Given the description of an element on the screen output the (x, y) to click on. 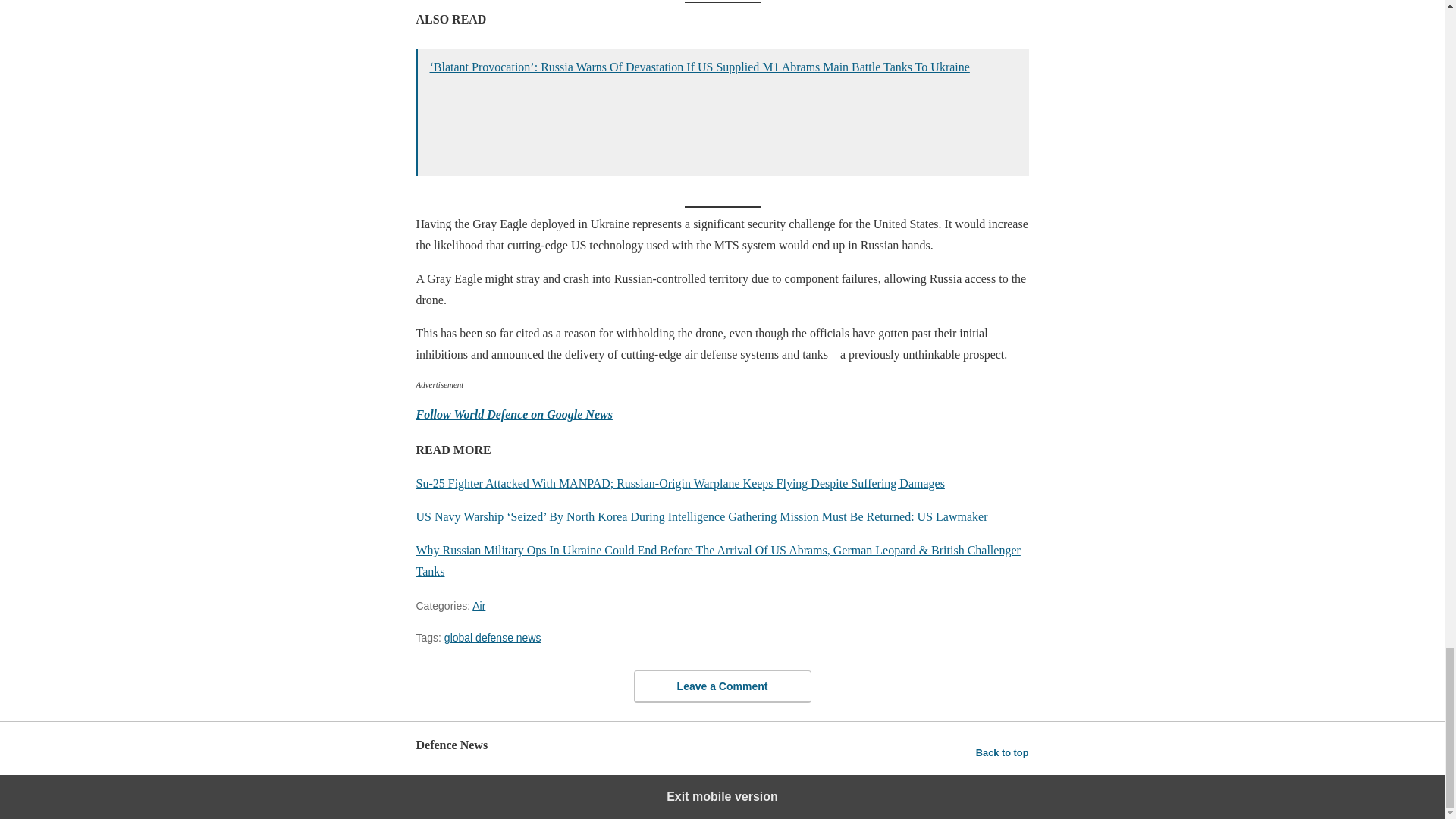
Back to top (1002, 752)
Air (477, 605)
global defense news (492, 637)
Leave a Comment (721, 686)
Follow World Defence on Google News (512, 413)
